Given the description of an element on the screen output the (x, y) to click on. 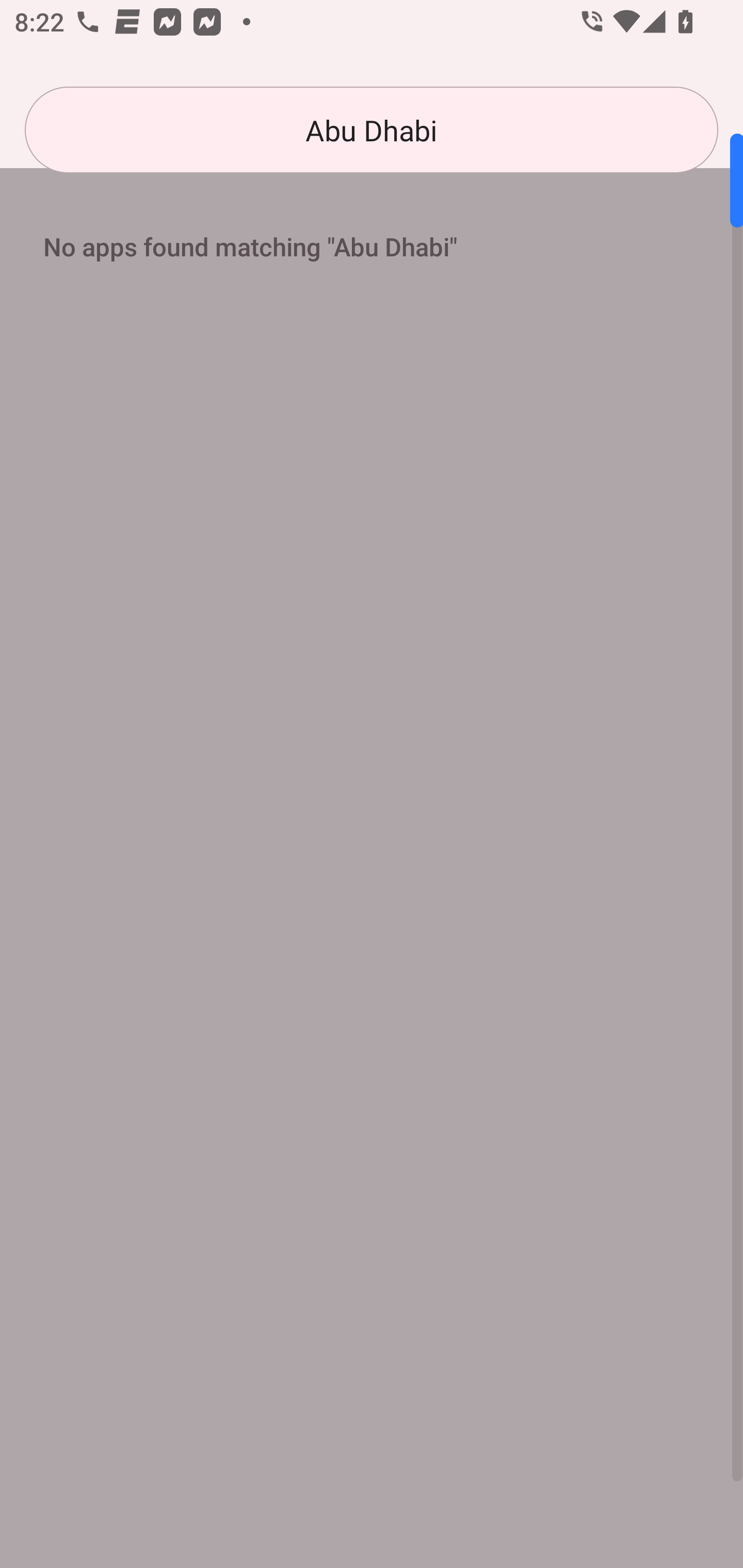
Abu Dhabi (371, 130)
